Given the description of an element on the screen output the (x, y) to click on. 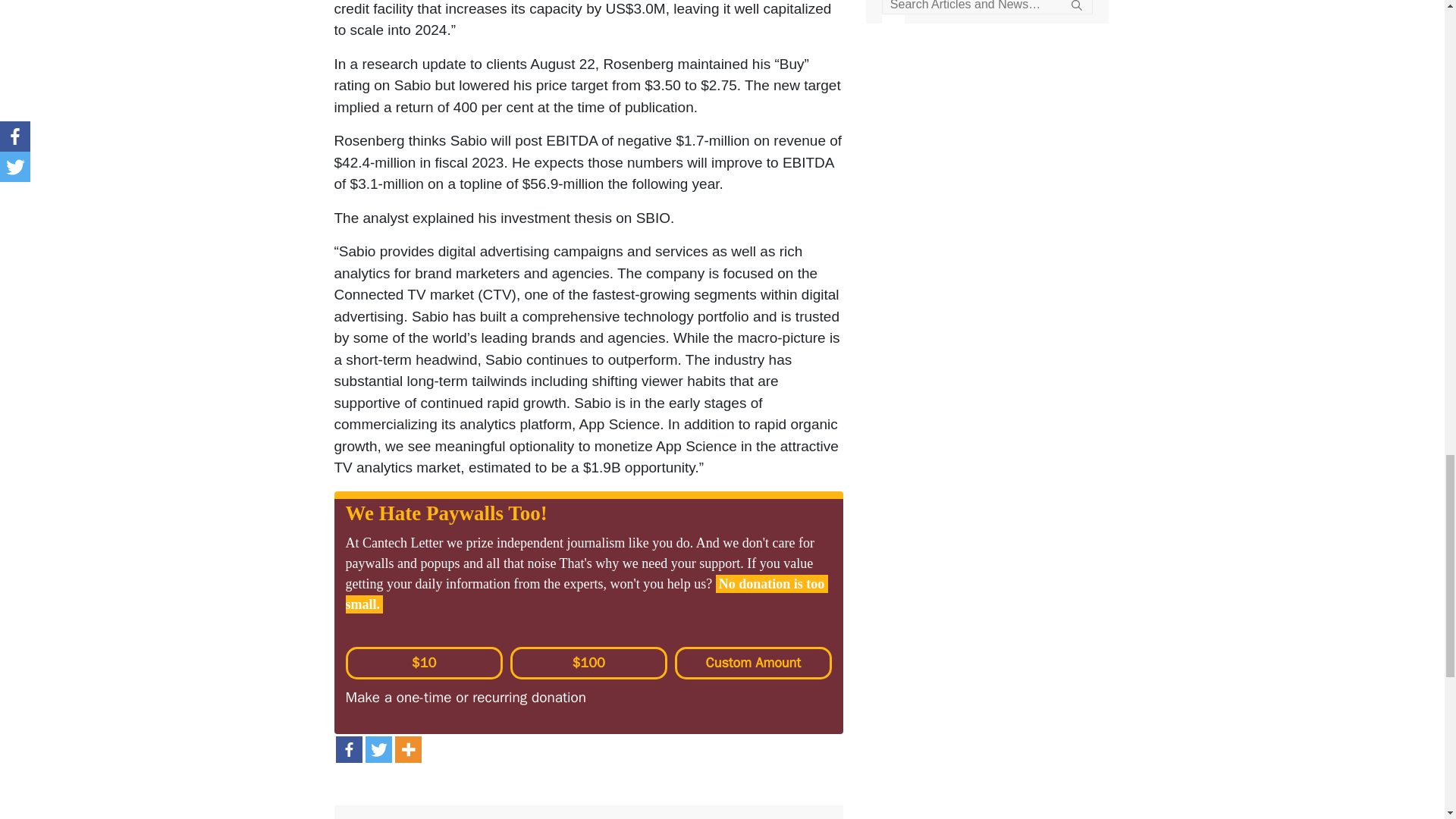
Custom Amount (753, 663)
More (407, 749)
Twitter (378, 749)
Facebook (347, 749)
